Given the description of an element on the screen output the (x, y) to click on. 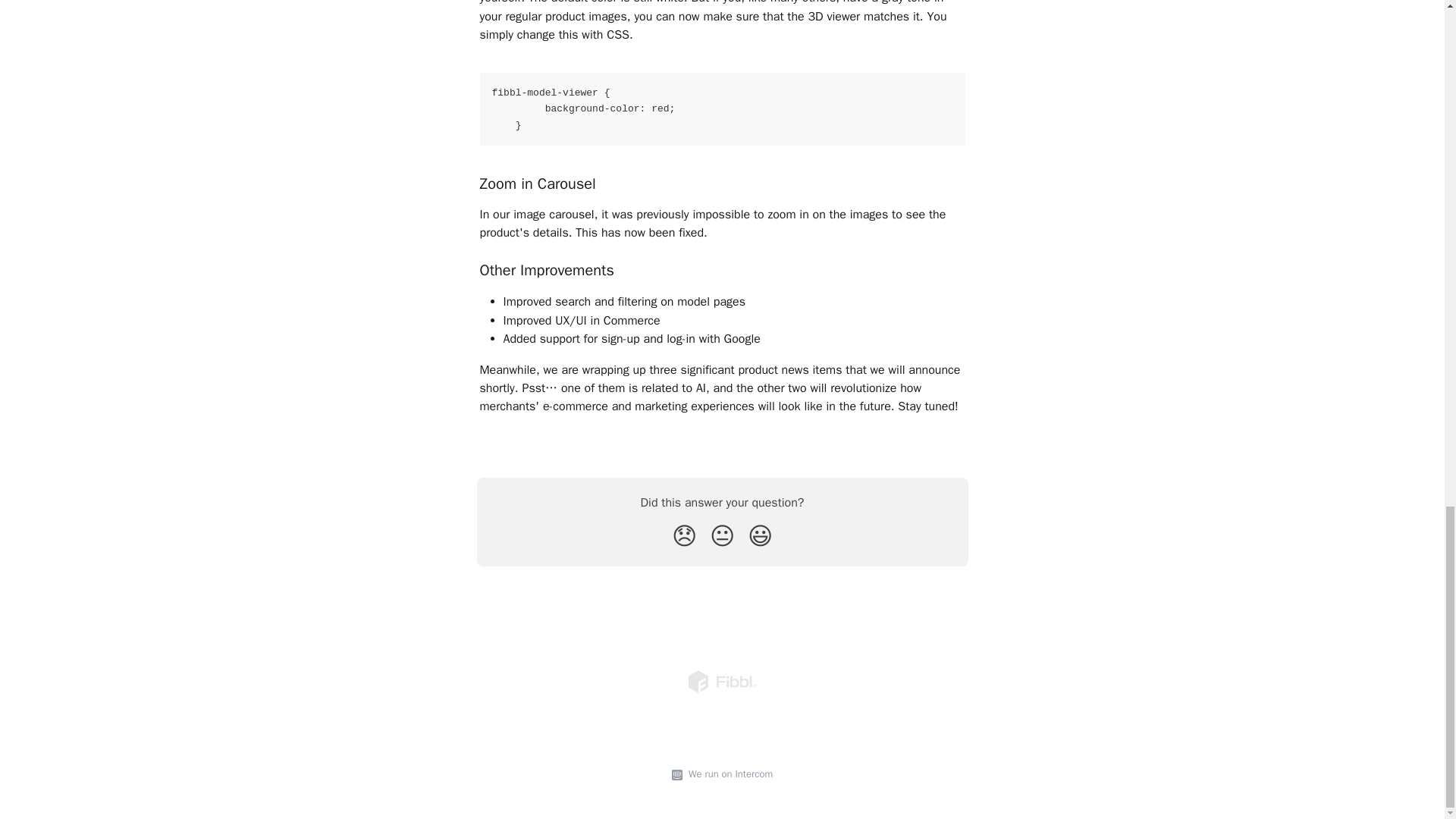
We run on Intercom (727, 774)
